Given the description of an element on the screen output the (x, y) to click on. 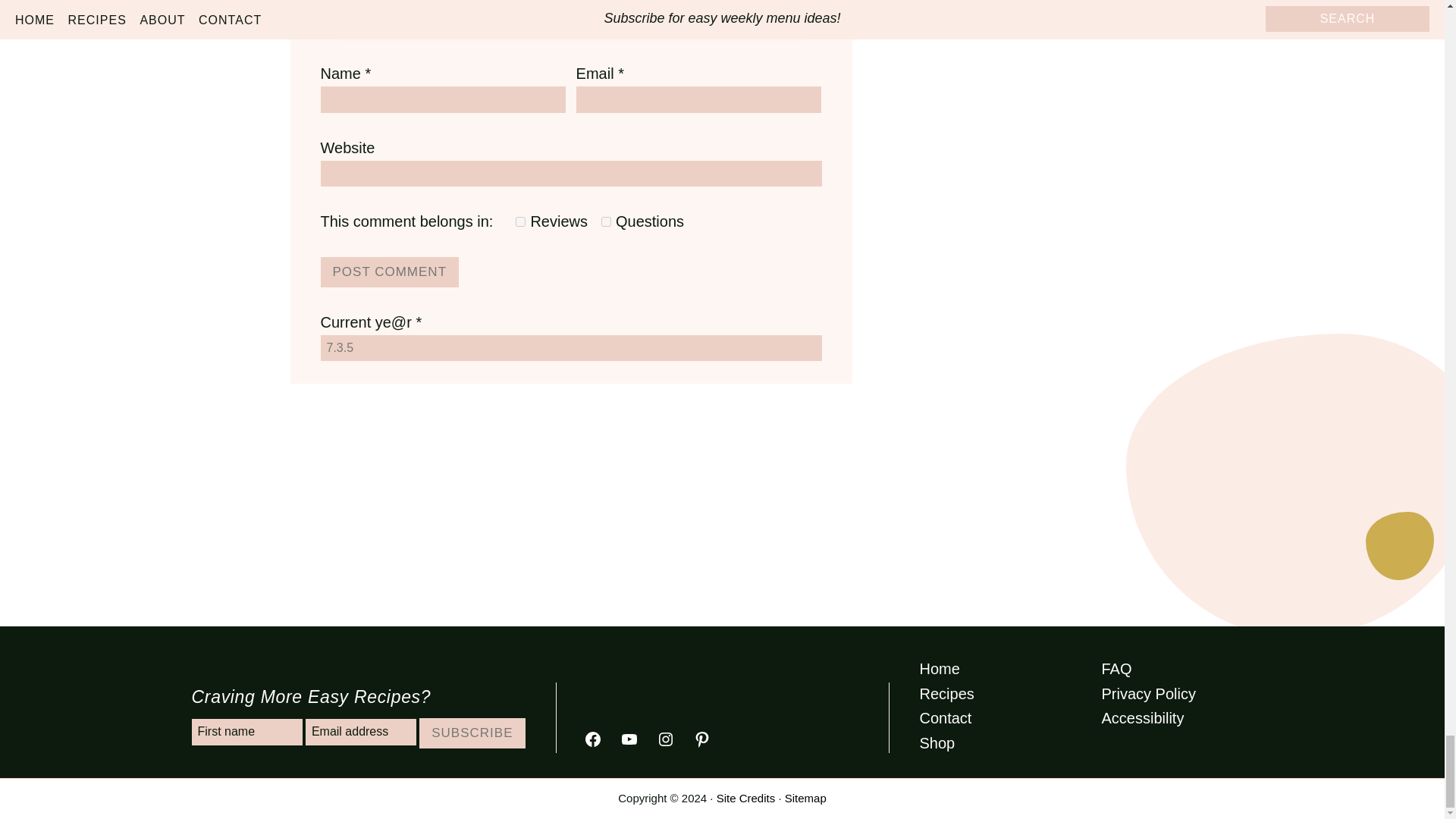
7.3.5 (570, 347)
Post Comment (389, 272)
Reviews (520, 221)
Questions (606, 221)
